Given the description of an element on the screen output the (x, y) to click on. 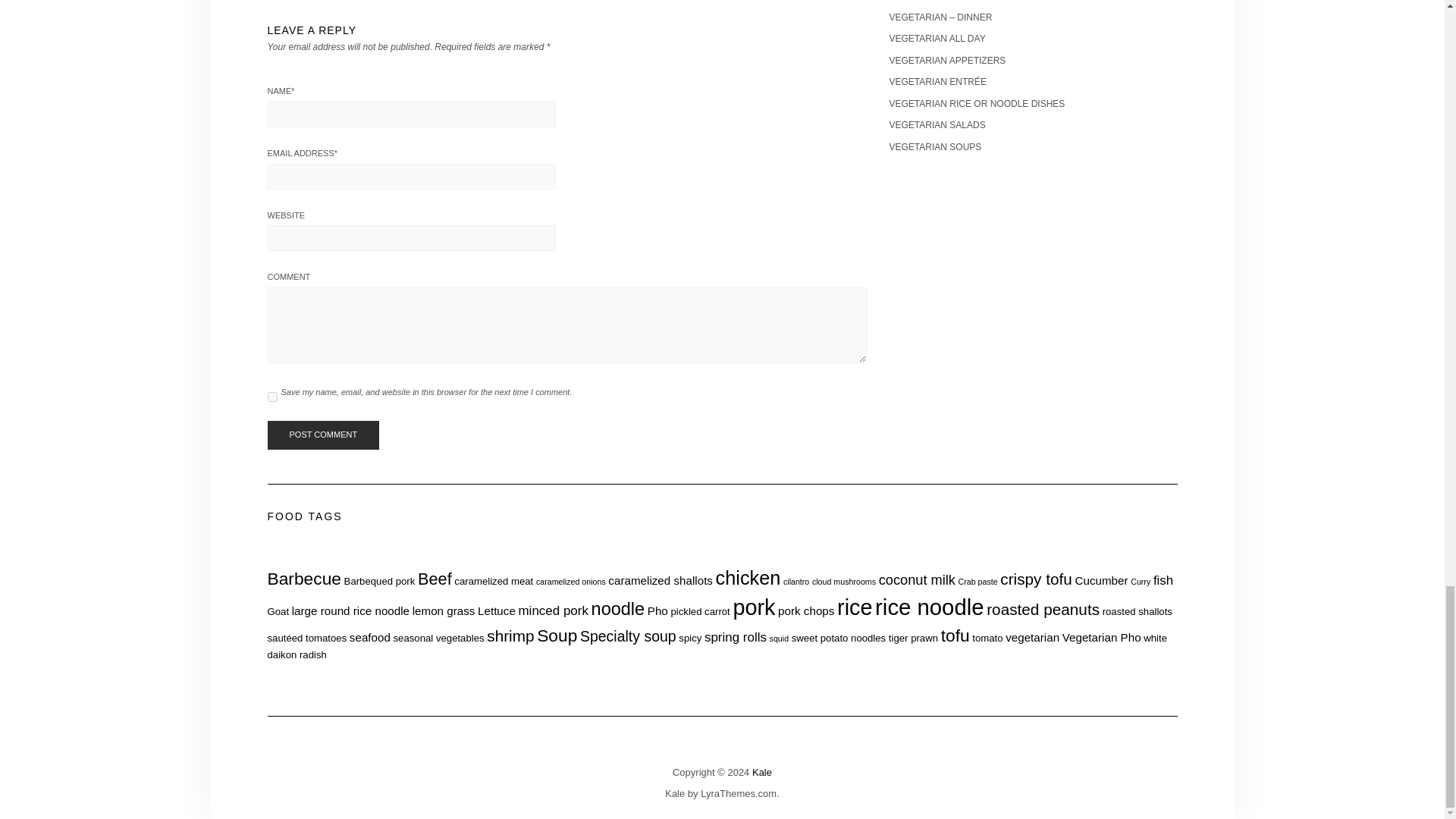
yes (271, 397)
Post Comment (322, 434)
